Given the description of an element on the screen output the (x, y) to click on. 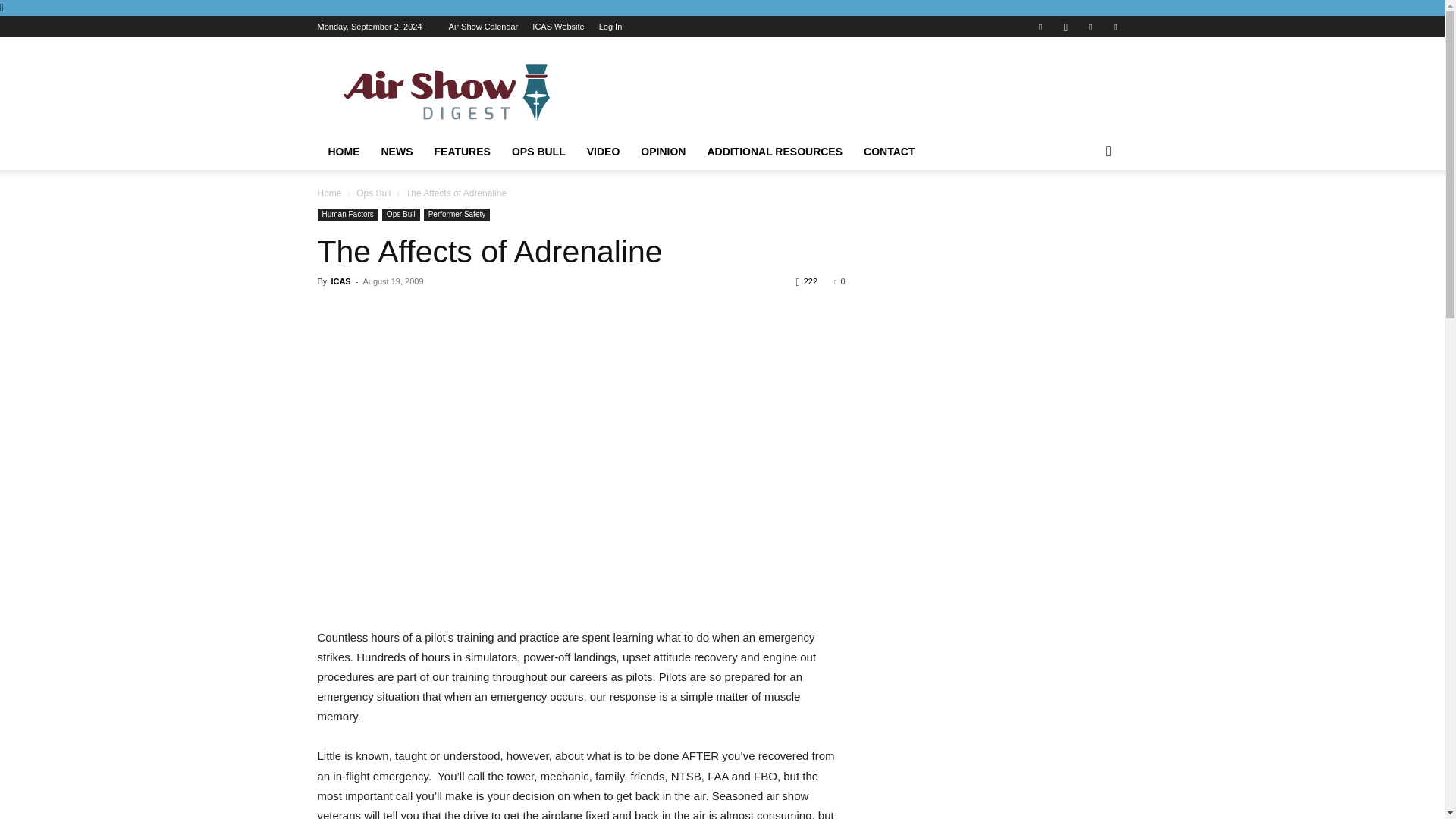
Youtube (1114, 25)
VIDEO (603, 151)
NEWS (396, 151)
View all posts in Ops Bull (373, 193)
Ops Bull (373, 193)
HOME (343, 151)
ADDITIONAL RESOURCES (774, 151)
ICAS Website (557, 26)
Home (328, 193)
Human Factors (347, 214)
